Given the description of an element on the screen output the (x, y) to click on. 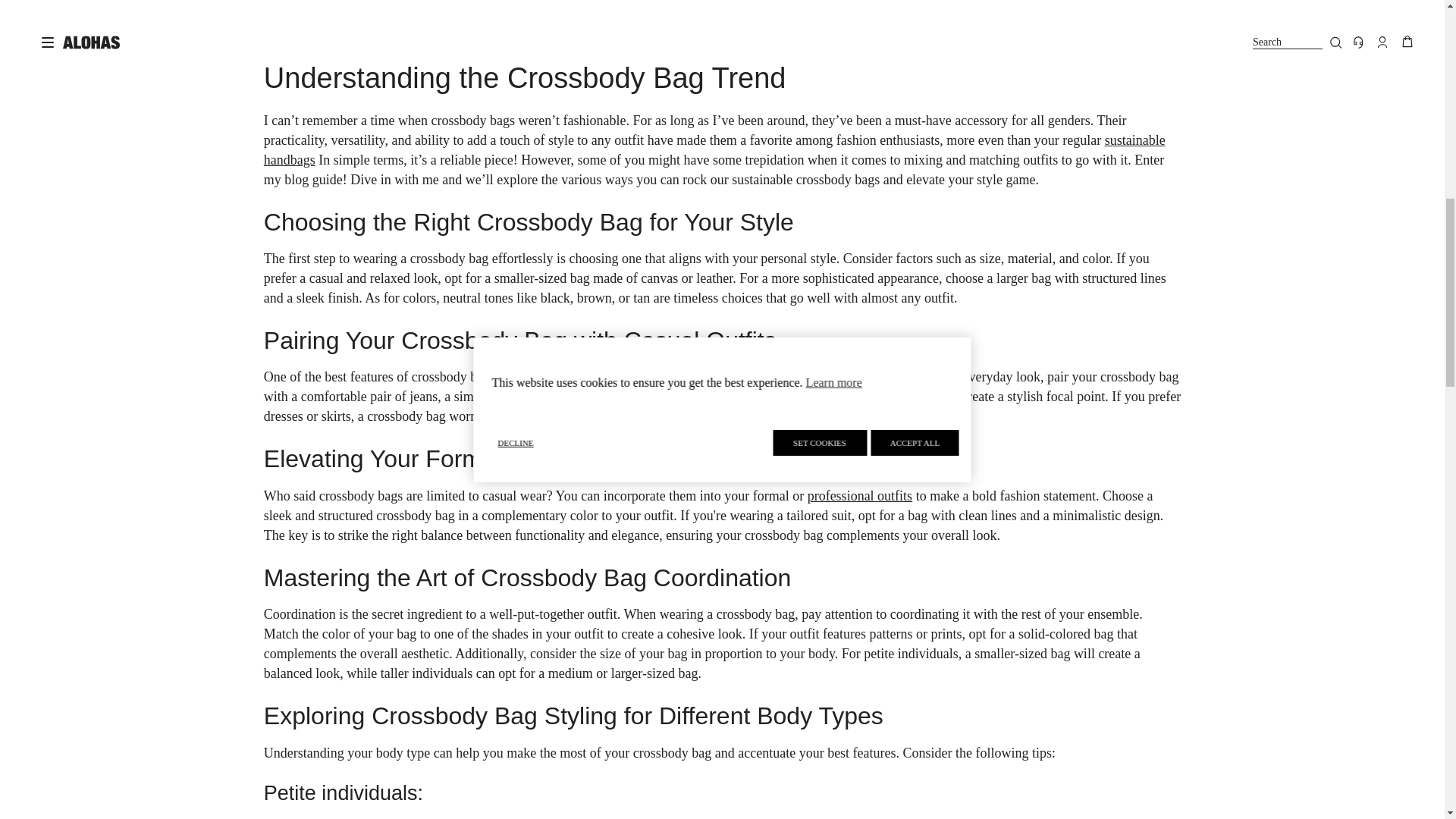
Office Wear for Women (860, 495)
sustainable handbags (714, 149)
